Given the description of an element on the screen output the (x, y) to click on. 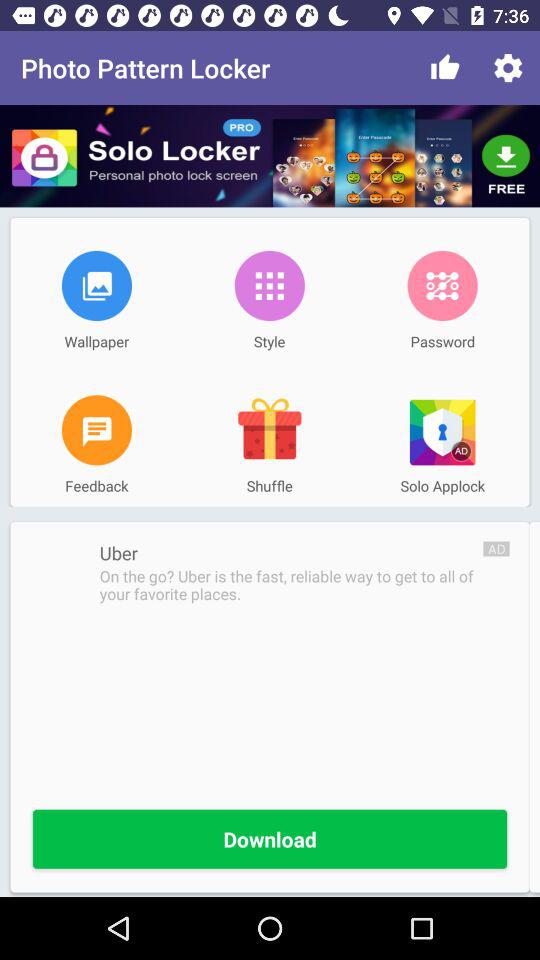
launch item next to password icon (269, 285)
